Given the description of an element on the screen output the (x, y) to click on. 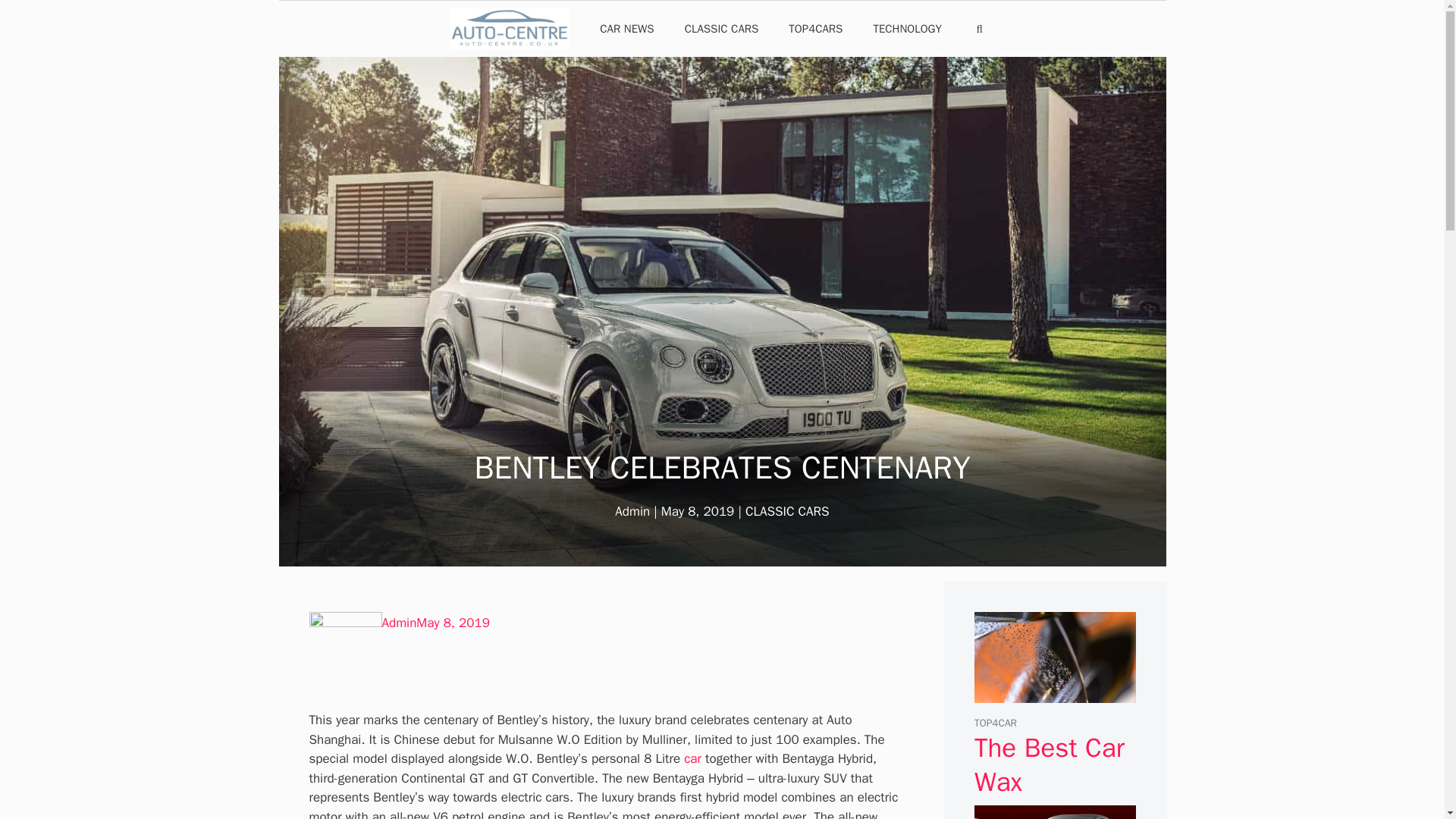
Admin (398, 622)
The Best Car Wax (1054, 692)
AUTO-CENTRE.CO.UK (509, 28)
8:47 pm (452, 622)
Admin (631, 511)
CLASSIC CARS (721, 28)
View all posts by Admin (631, 511)
AUTO-CENTRE.CO.UK (513, 28)
TOP4CAR (995, 722)
May 8, 2019 (452, 622)
